Given the description of an element on the screen output the (x, y) to click on. 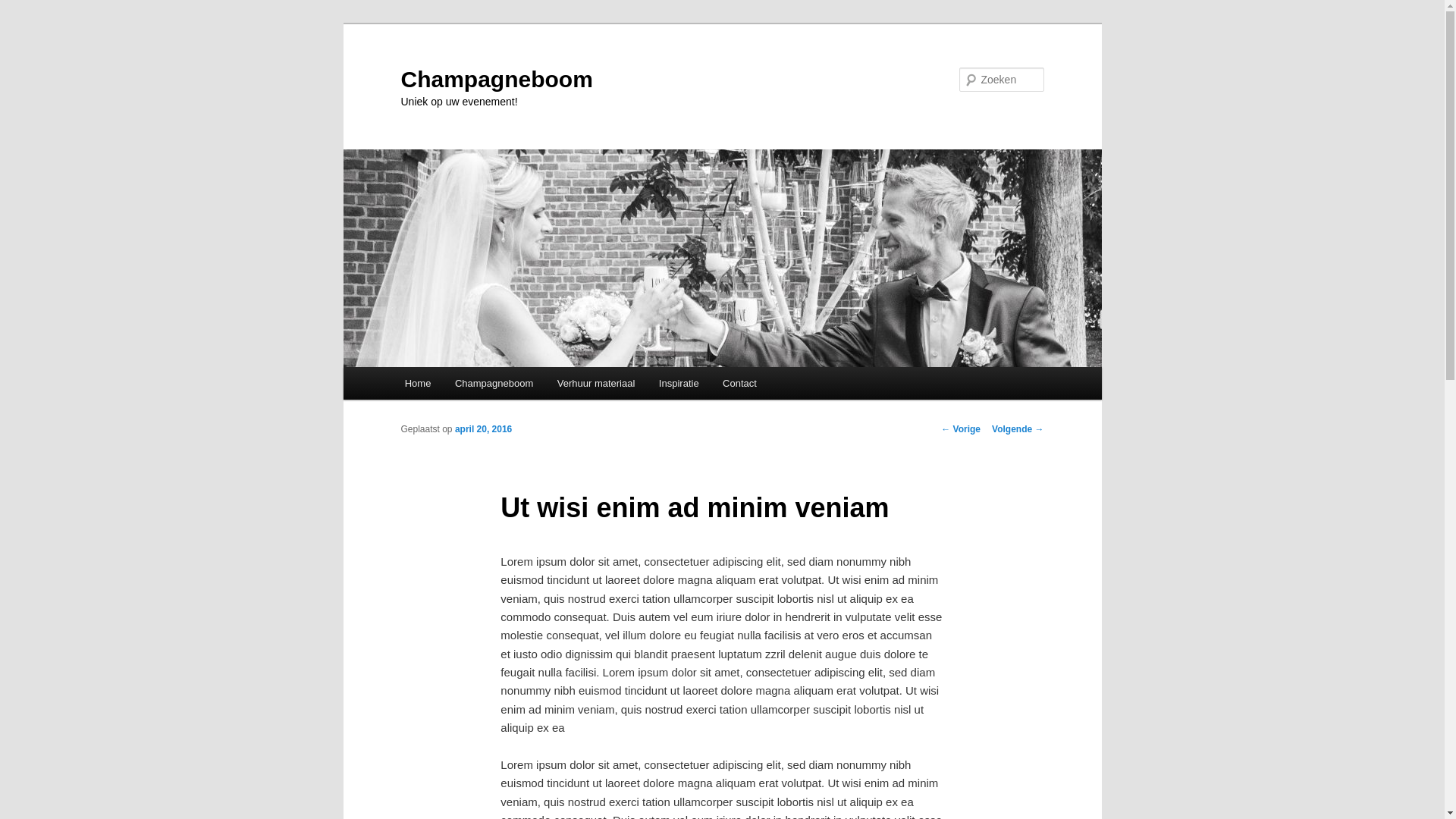
Home Element type: text (417, 383)
Champagneboom Element type: text (493, 383)
Champagneboom Element type: text (496, 78)
Verhuur materiaal Element type: text (595, 383)
Inspiratie Element type: text (678, 383)
Spring naar de primaire inhoud Element type: text (22, 22)
april 20, 2016 Element type: text (483, 428)
Contact Element type: text (739, 383)
Zoeken Element type: text (25, 8)
